Given the description of an element on the screen output the (x, y) to click on. 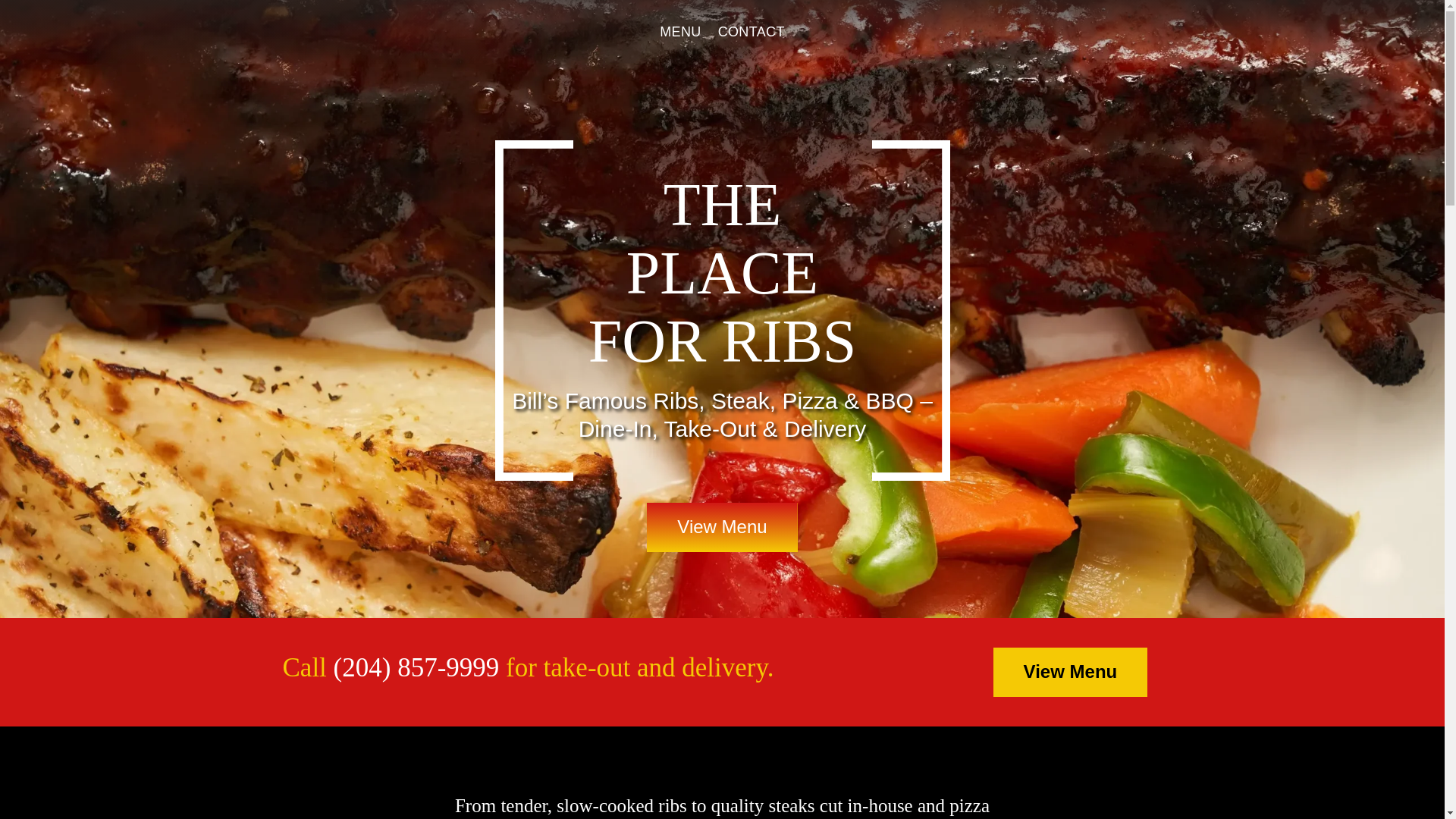
View Menu (721, 527)
MENU (679, 31)
View Menu (1070, 671)
CONTACT (750, 31)
